Given the description of an element on the screen output the (x, y) to click on. 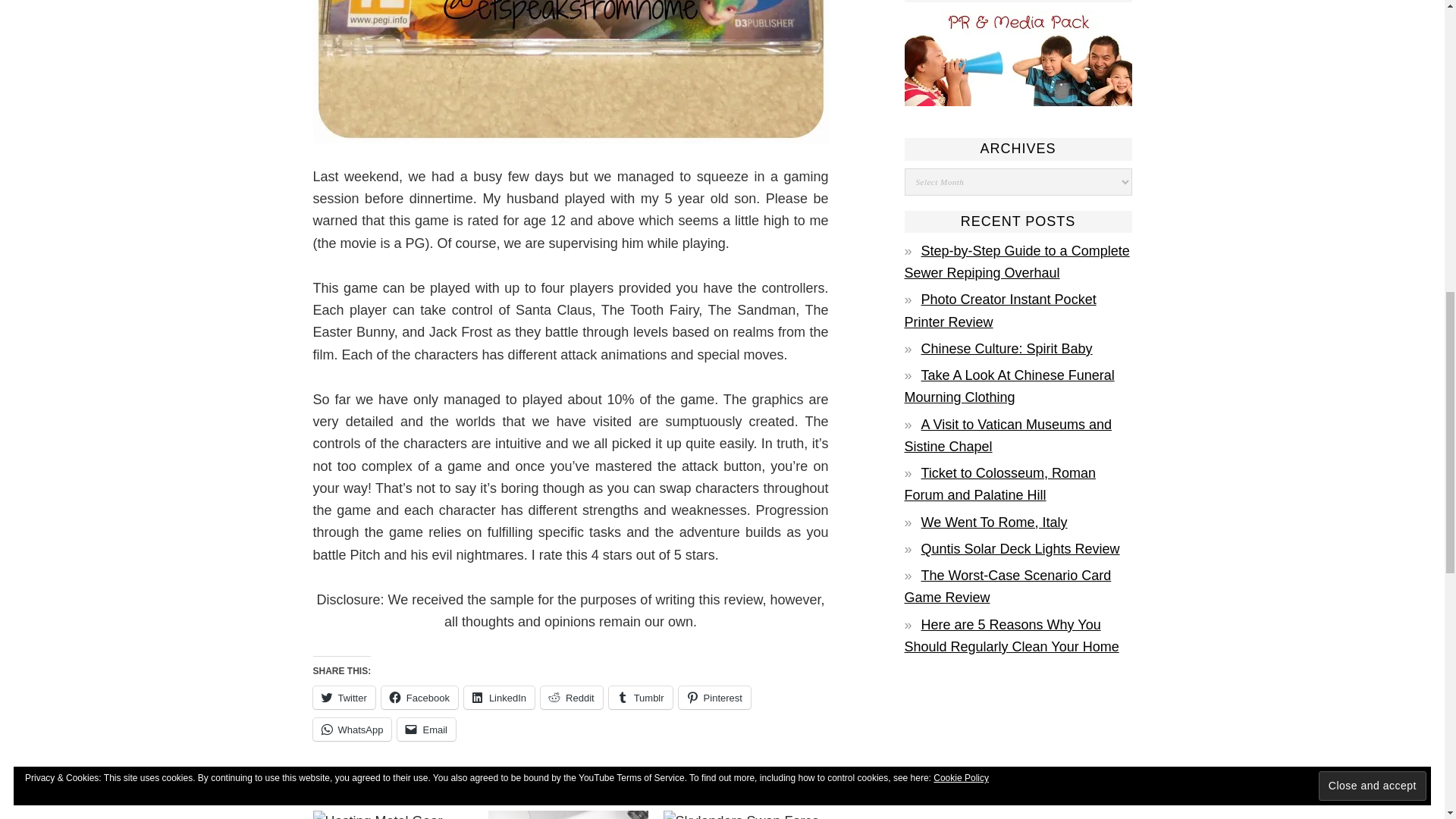
Hosting Metal Gear Rising Party (392, 814)
Click to share on Reddit (571, 697)
Skylanders Swap Force Review (742, 814)
Click to email a link to a friend (426, 729)
Click to share on Tumblr (640, 697)
Click to share on LinkedIn (499, 697)
Click to share on Pinterest (714, 697)
What is on your wishlist? (567, 814)
Click to share on Twitter (343, 697)
Click to share on Facebook (419, 697)
